Given the description of an element on the screen output the (x, y) to click on. 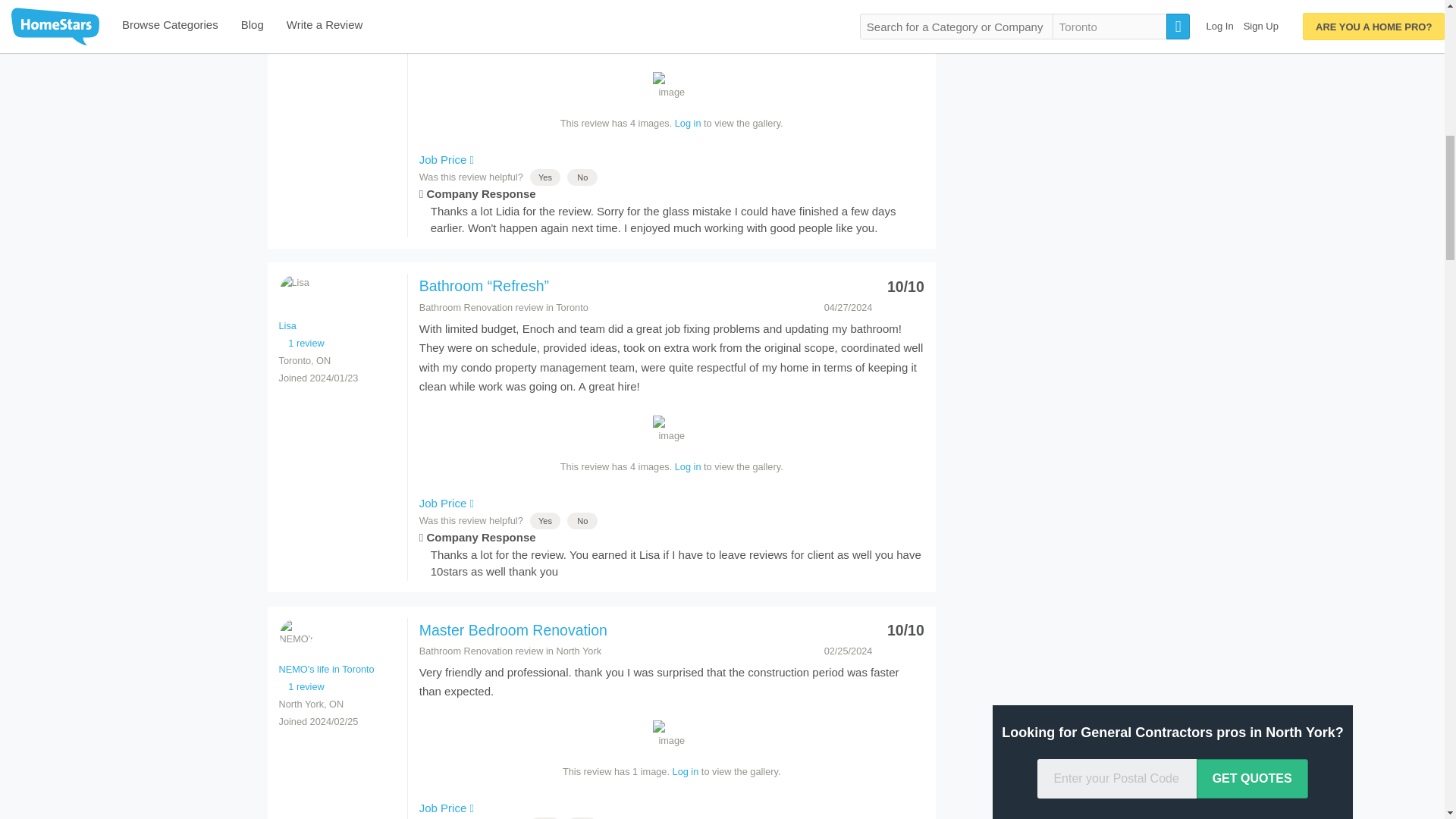
Yes (545, 520)
No (582, 176)
Lisa (295, 290)
No (582, 520)
Yes (545, 176)
NEMO's life in Toronto (295, 635)
